Given the description of an element on the screen output the (x, y) to click on. 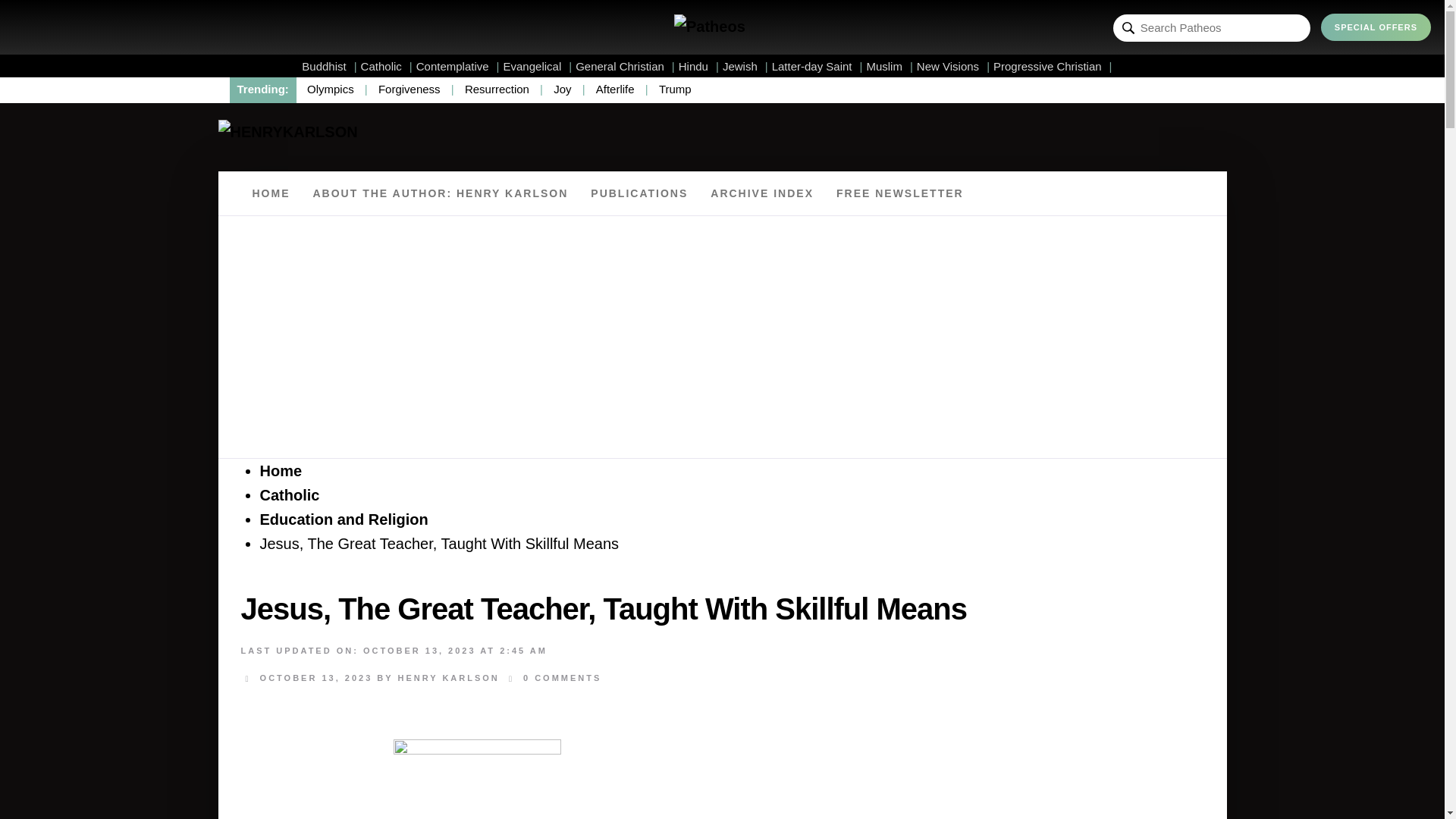
Buddhist (328, 65)
SPECIAL OFFERS (1375, 26)
Hindu (698, 65)
Jewish (745, 65)
New Visions (953, 65)
Evangelical (537, 65)
Progressive Christian (1052, 65)
Latter-day Saint (817, 65)
Contemplative (457, 65)
Catholic (386, 65)
